Given the description of an element on the screen output the (x, y) to click on. 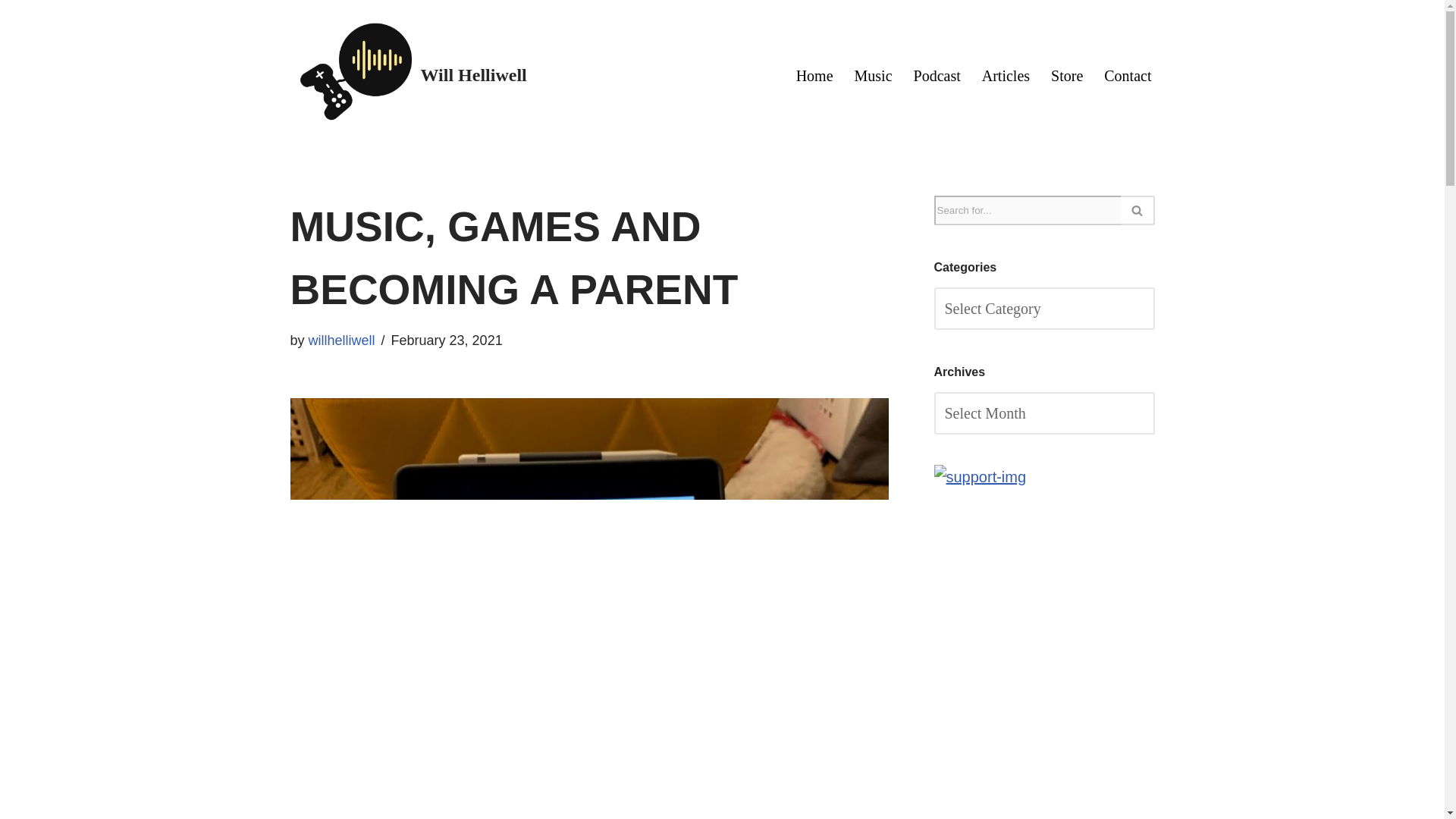
Contact (1127, 74)
Articles (1005, 74)
willhelliwell (341, 340)
Skip to content (11, 31)
Home (814, 74)
Posts by willhelliwell (341, 340)
Will Helliwell (407, 74)
Store (1067, 74)
Podcast (937, 74)
Music (873, 74)
